Given the description of an element on the screen output the (x, y) to click on. 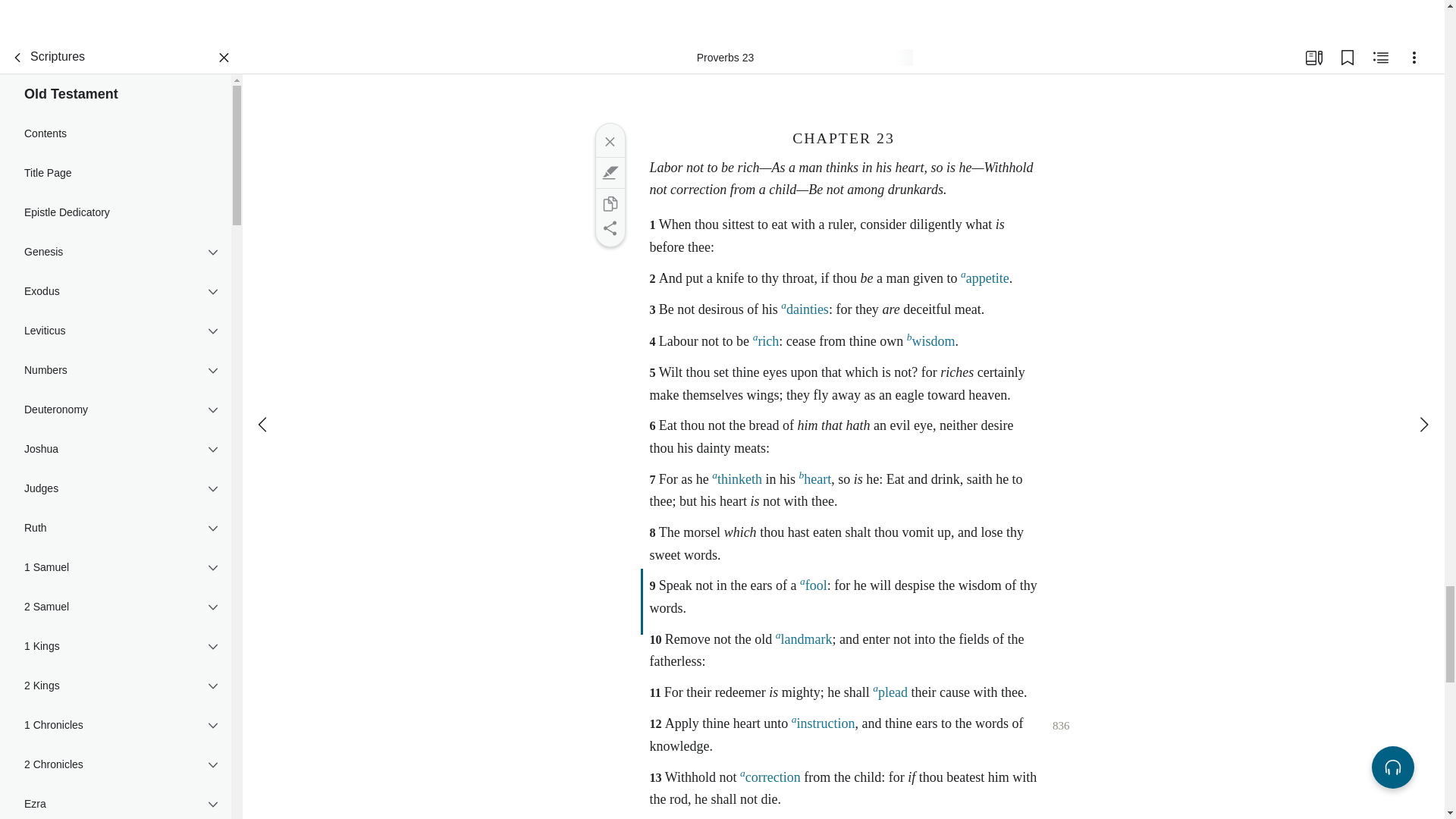
2 Kings (115, 685)
Deuteronomy (115, 409)
Contents (115, 133)
Epistle Dedicatory (115, 211)
Ezra (115, 801)
1 Chronicles (115, 724)
Leviticus (115, 330)
Scriptures (44, 57)
Options (1414, 57)
2 Samuel (115, 606)
